Given the description of an element on the screen output the (x, y) to click on. 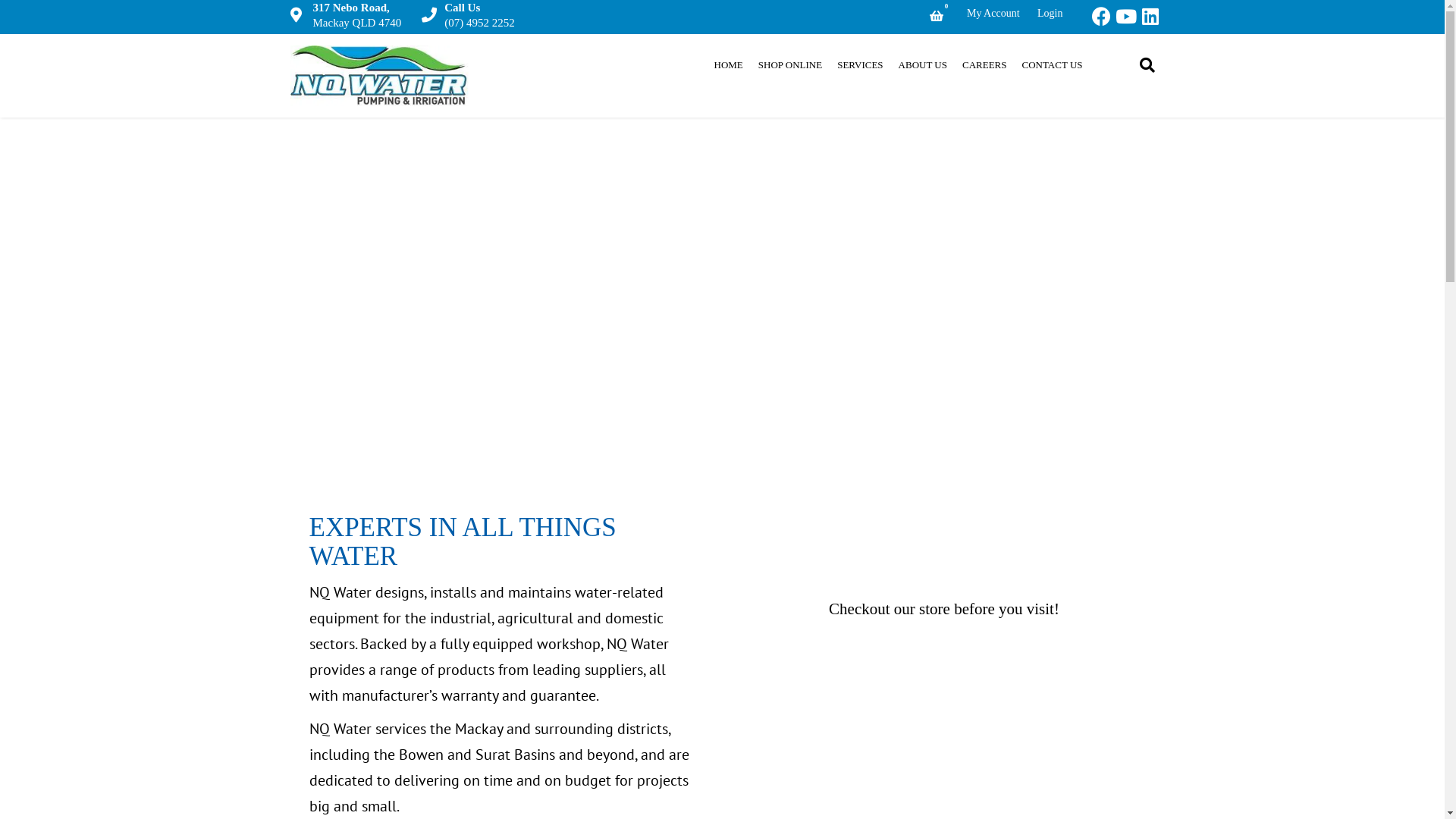
(07) 4952 2252 Element type: text (479, 22)
SHOP ONLINE Element type: text (789, 64)
SERVICES Element type: text (859, 64)
CONTACT US Element type: text (1052, 64)
HOME Element type: text (728, 64)
CAREERS Element type: text (984, 64)
ABOUT US Element type: text (922, 64)
0 Element type: text (936, 15)
Call Us Element type: text (475, 7)
My Account Element type: text (1009, 12)
Mackay QLD 4740 Element type: text (356, 22)
